Given the description of an element on the screen output the (x, y) to click on. 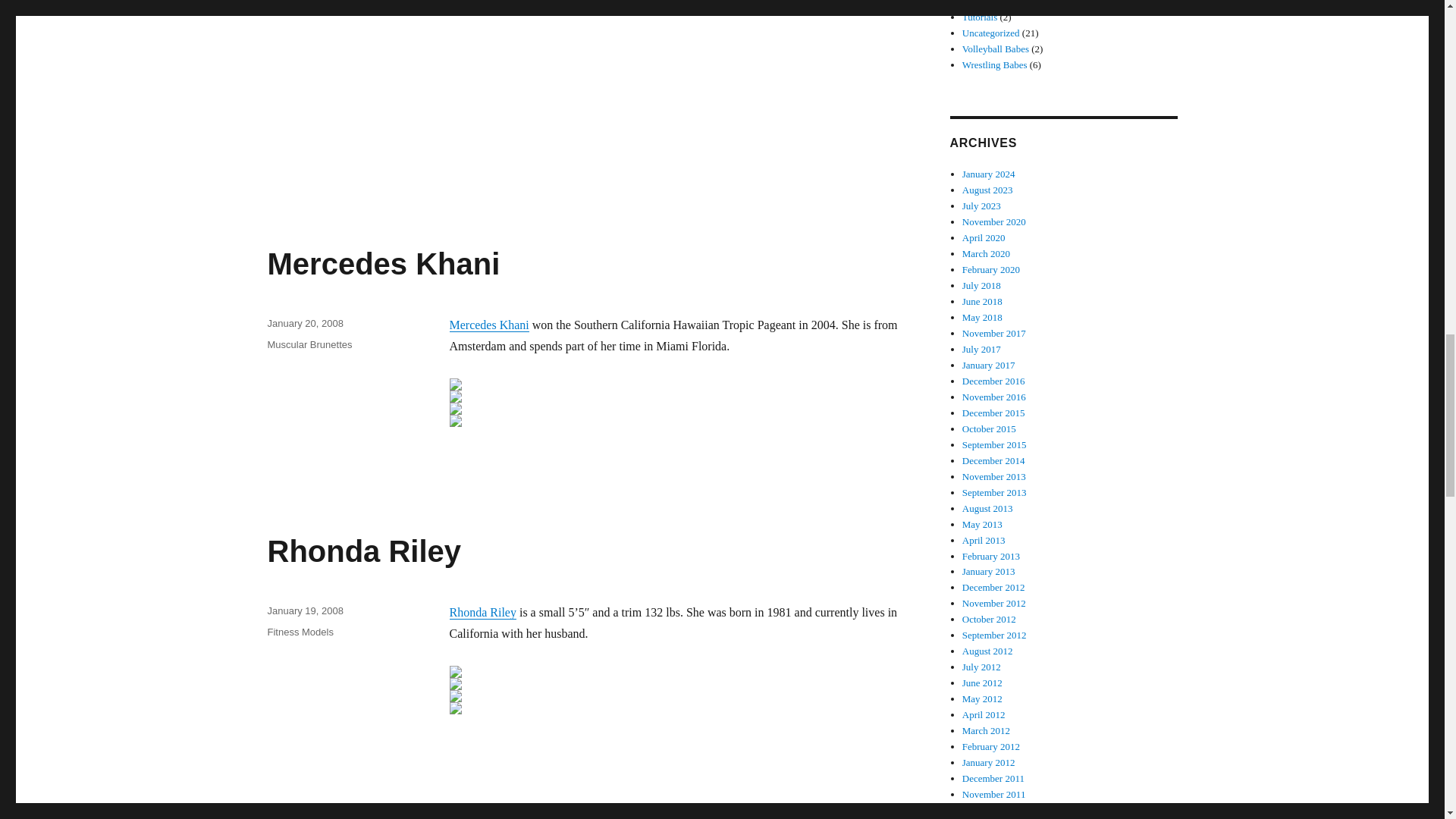
Mercedes Khani (488, 324)
Muscular Brunettes (309, 344)
Mercedes Khani (382, 263)
Rhonda Riley (363, 551)
January 19, 2008 (304, 610)
Rhonda Riley (481, 612)
January 20, 2008 (304, 323)
